Given the description of an element on the screen output the (x, y) to click on. 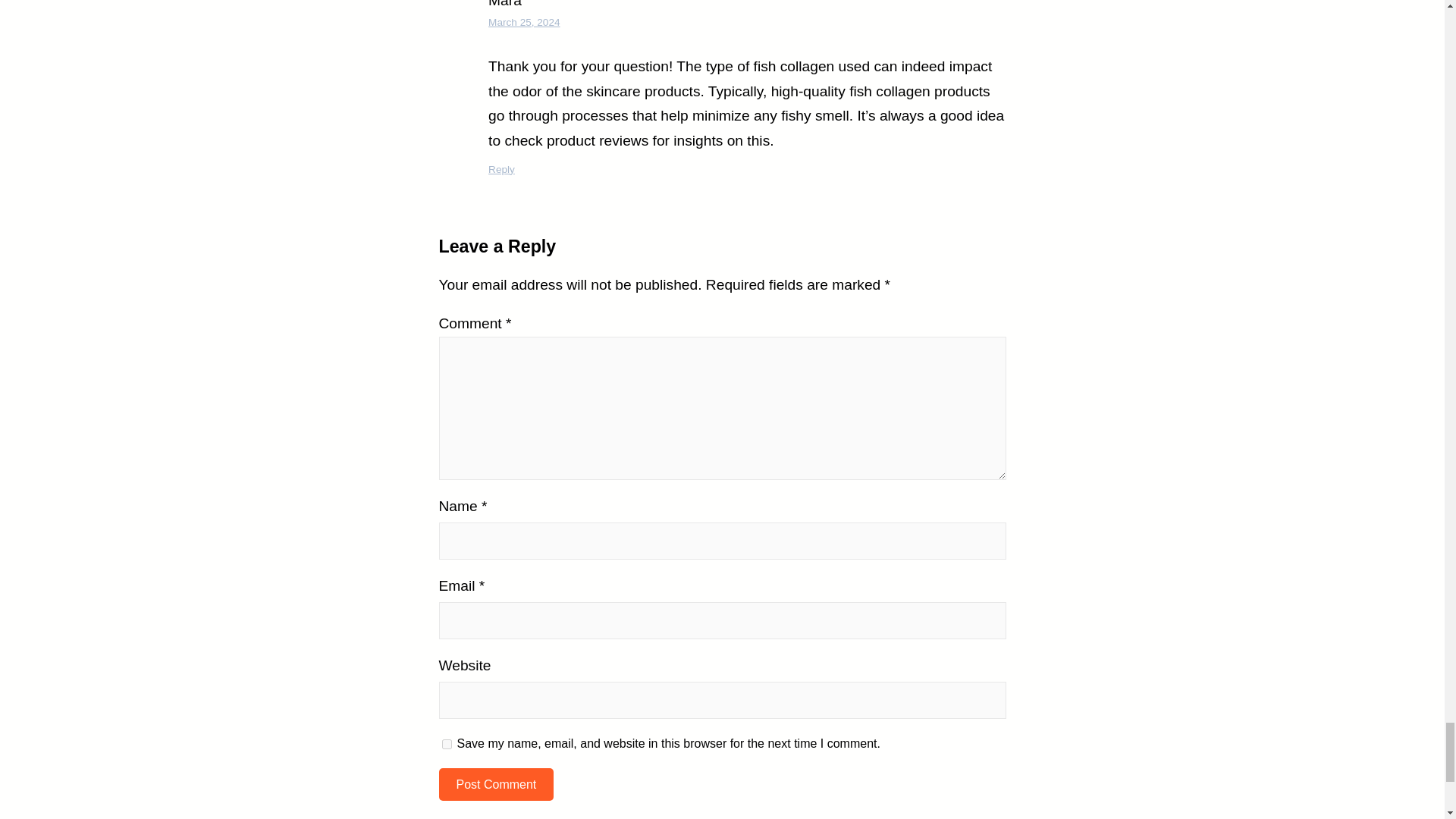
Post Comment (495, 784)
Post Comment (495, 784)
Reply (501, 169)
March 25, 2024 (523, 21)
